Given the description of an element on the screen output the (x, y) to click on. 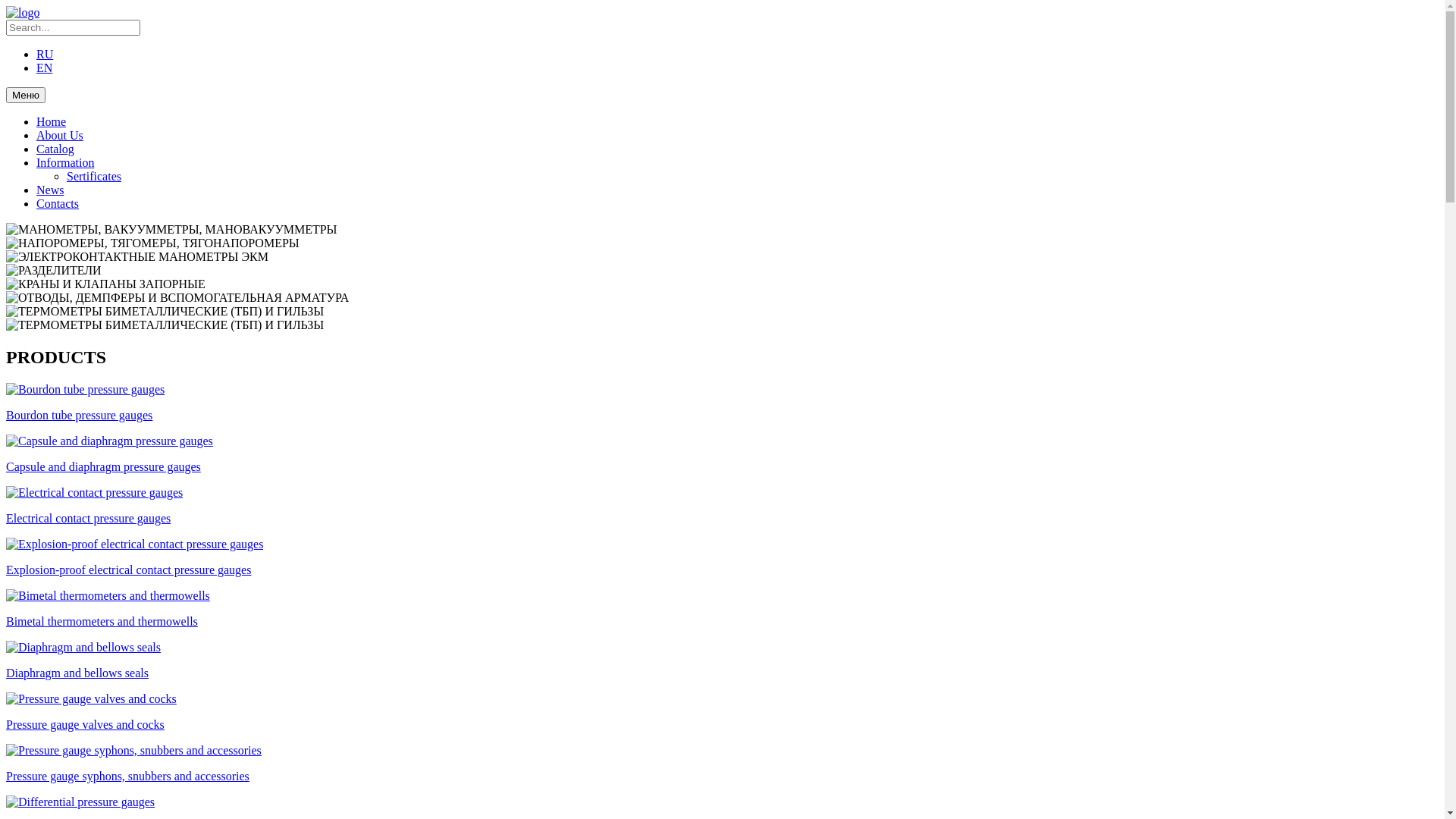
Information Element type: text (65, 162)
Explosion-proof electrical contact pressure gauges Element type: text (722, 557)
About Us Element type: text (59, 134)
Home Element type: text (50, 121)
Catalog Element type: text (55, 148)
Electrical contact pressure gauges Element type: text (722, 505)
Pressure gauge valves and cocks Element type: text (722, 711)
News Element type: text (49, 189)
Pressure gauge syphons, snubbers and accessories Element type: text (722, 763)
Contacts Element type: text (57, 203)
Bimetal thermometers and thermowells Element type: text (722, 608)
EN Element type: text (44, 67)
Diaphragm and bellows seals Element type: text (722, 660)
Capsule and diaphragm pressure gauges Element type: text (722, 453)
RU Element type: text (44, 53)
Sertificates Element type: text (93, 175)
Bourdon tube pressure gauges Element type: text (722, 402)
